Given the description of an element on the screen output the (x, y) to click on. 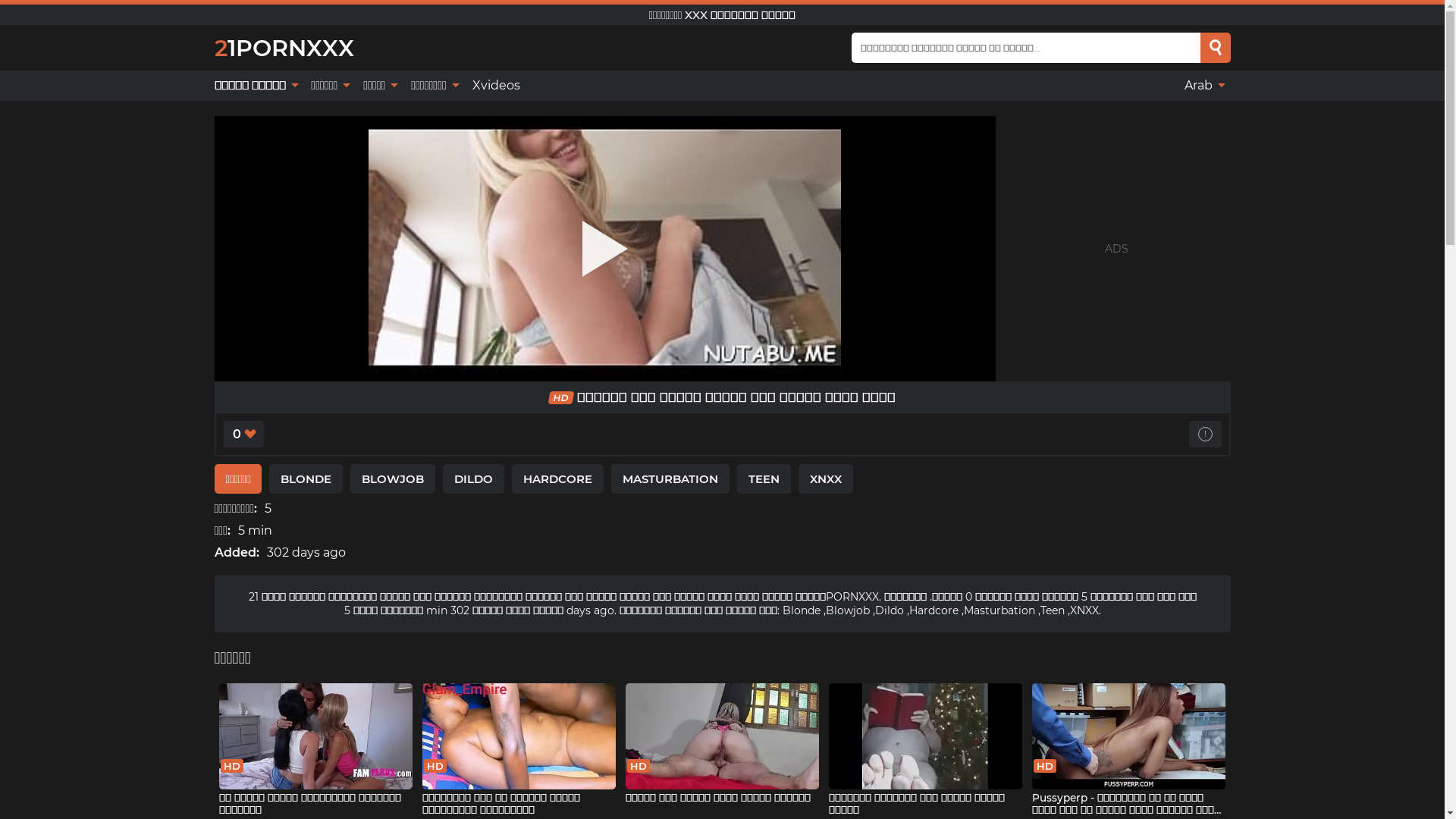
Arab Element type: text (1203, 85)
TEEN Element type: text (763, 478)
XNXX Element type: text (825, 478)
Search Element type: text (1215, 47)
BLONDE Element type: text (305, 478)
HARDCORE Element type: text (557, 478)
21PORNXXX Element type: text (283, 47)
MASTURBATION Element type: text (670, 478)
DILDO Element type: text (473, 478)
BLOWJOB Element type: text (392, 478)
Xvideos Element type: text (495, 85)
